Given the description of an element on the screen output the (x, y) to click on. 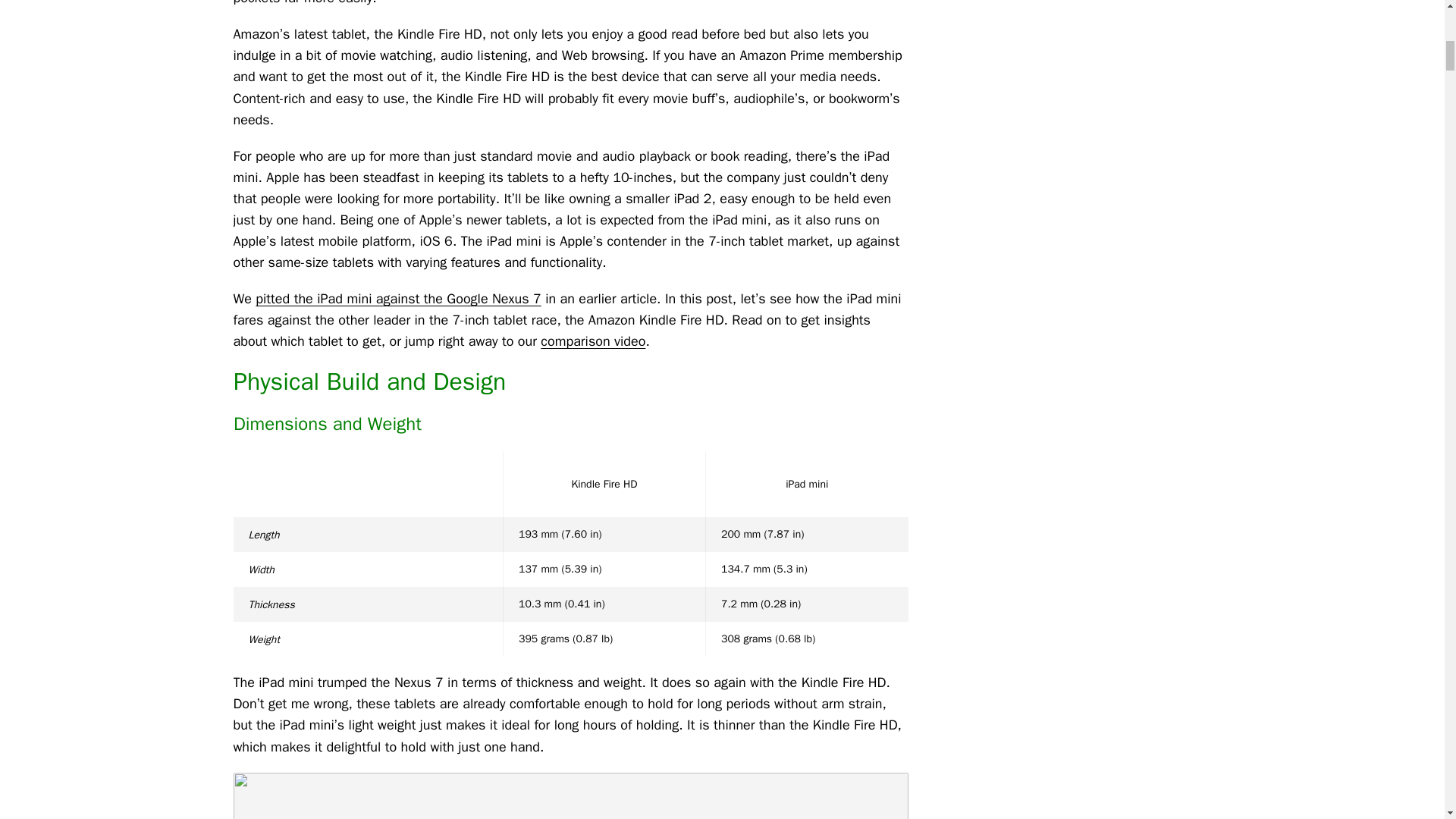
comparison video (592, 340)
pitted the iPad mini against the Google Nexus 7 (398, 298)
